Given the description of an element on the screen output the (x, y) to click on. 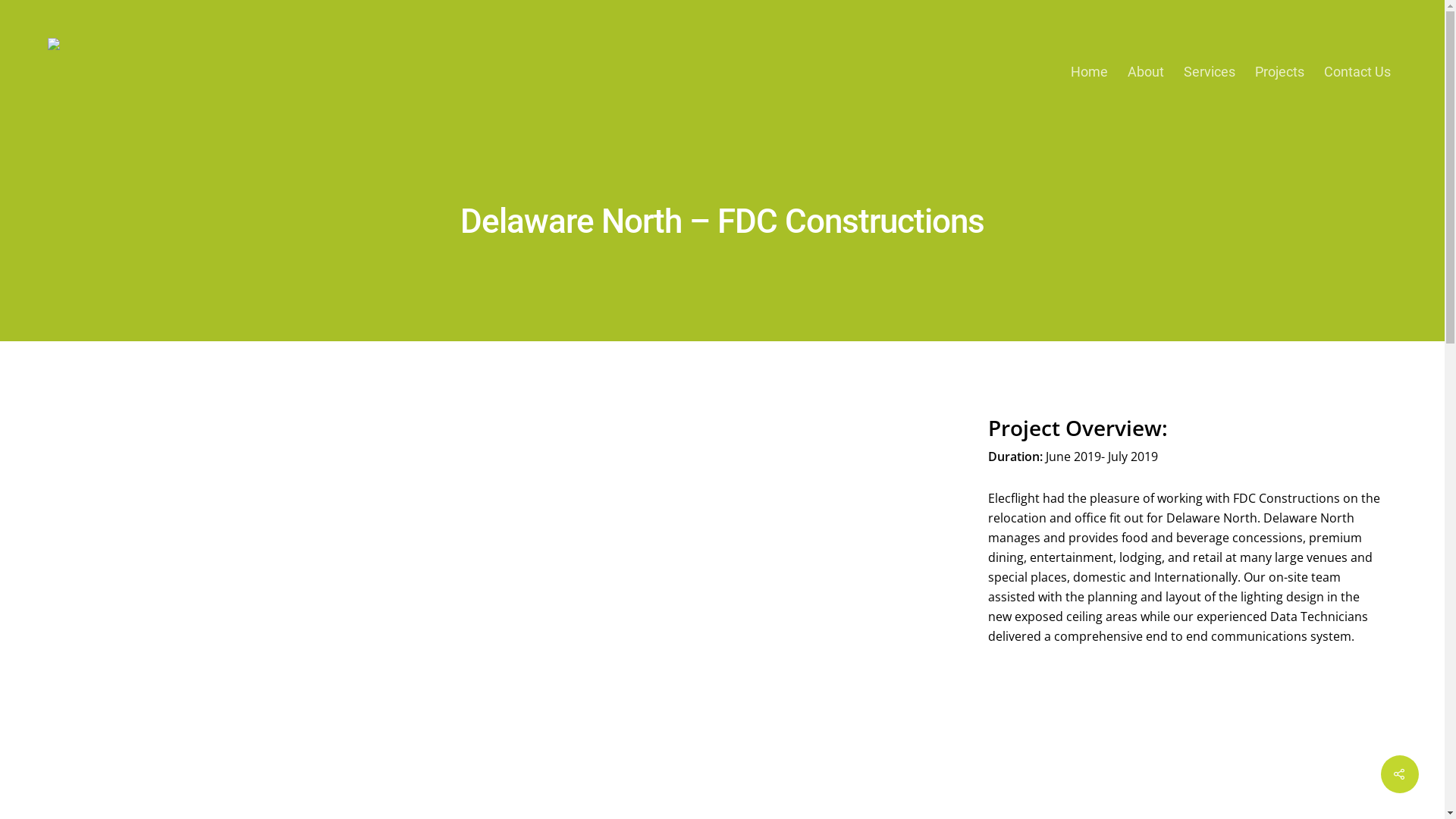
Home Element type: text (1088, 71)
Services Element type: text (1209, 71)
Projects Element type: text (1279, 71)
About Element type: text (1145, 71)
Contact Us Element type: text (1357, 71)
